Given the description of an element on the screen output the (x, y) to click on. 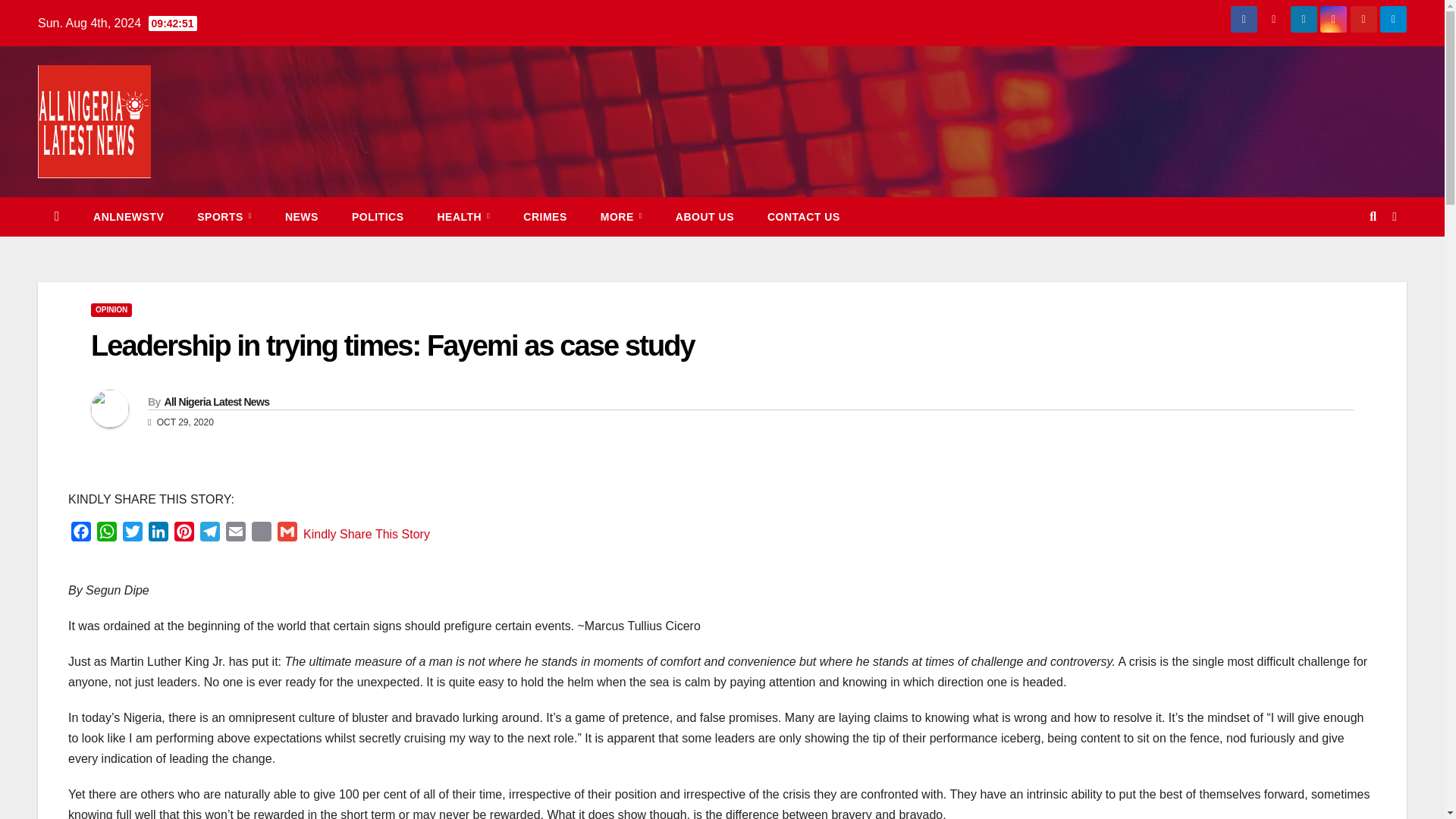
News (300, 216)
NEWS (300, 216)
More (621, 216)
OPINION (111, 309)
Politics (377, 216)
Crimes (544, 216)
CONTACT US (804, 216)
SPORTS (223, 216)
ANLNEWSTV (128, 216)
POLITICS (377, 216)
